Given the description of an element on the screen output the (x, y) to click on. 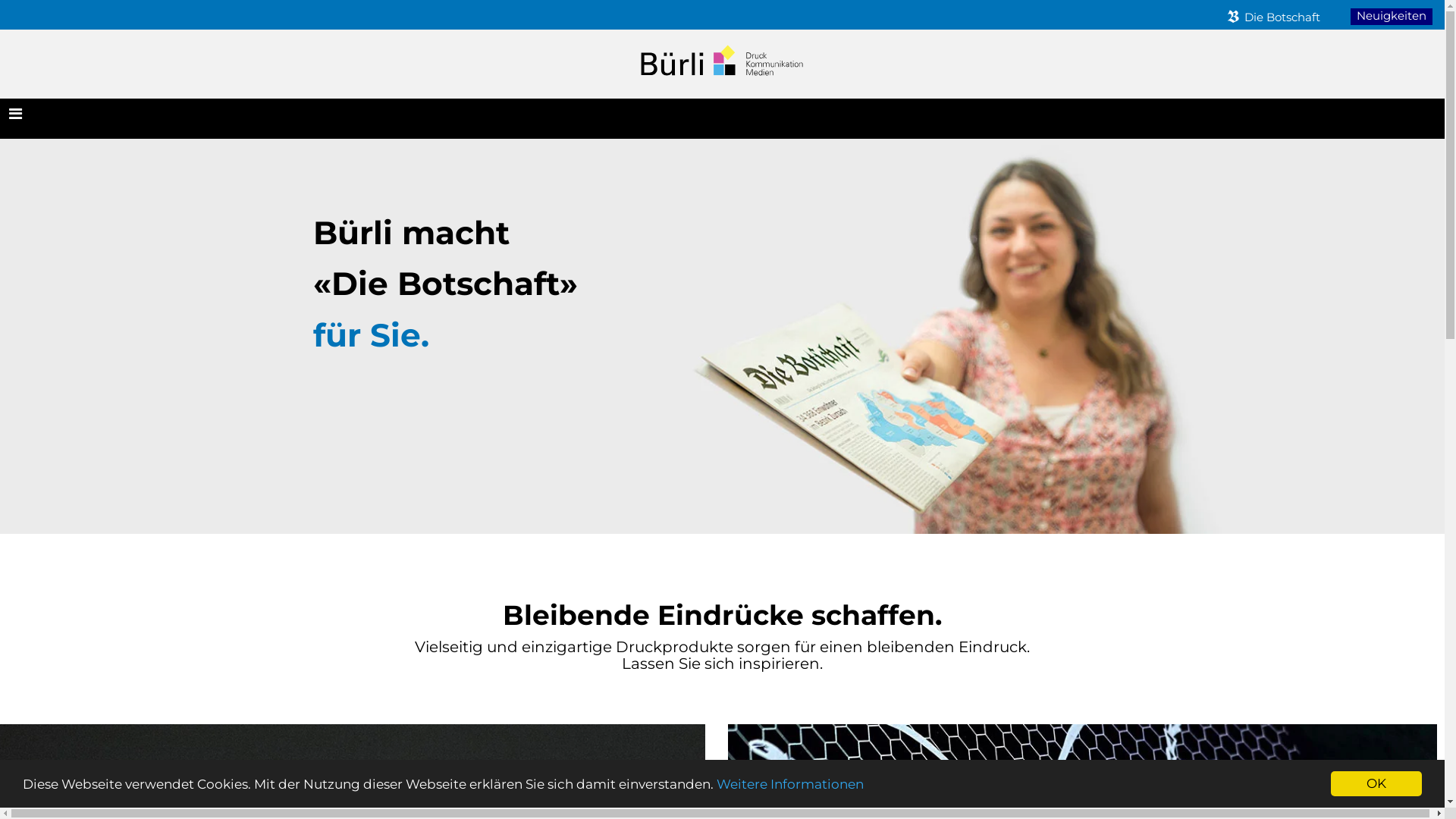
Die Botschaft Element type: text (1269, 16)
OK Element type: text (1375, 783)
Weitere Informationen Element type: text (789, 783)
Neuigkeiten Element type: text (1391, 16)
